Given the description of an element on the screen output the (x, y) to click on. 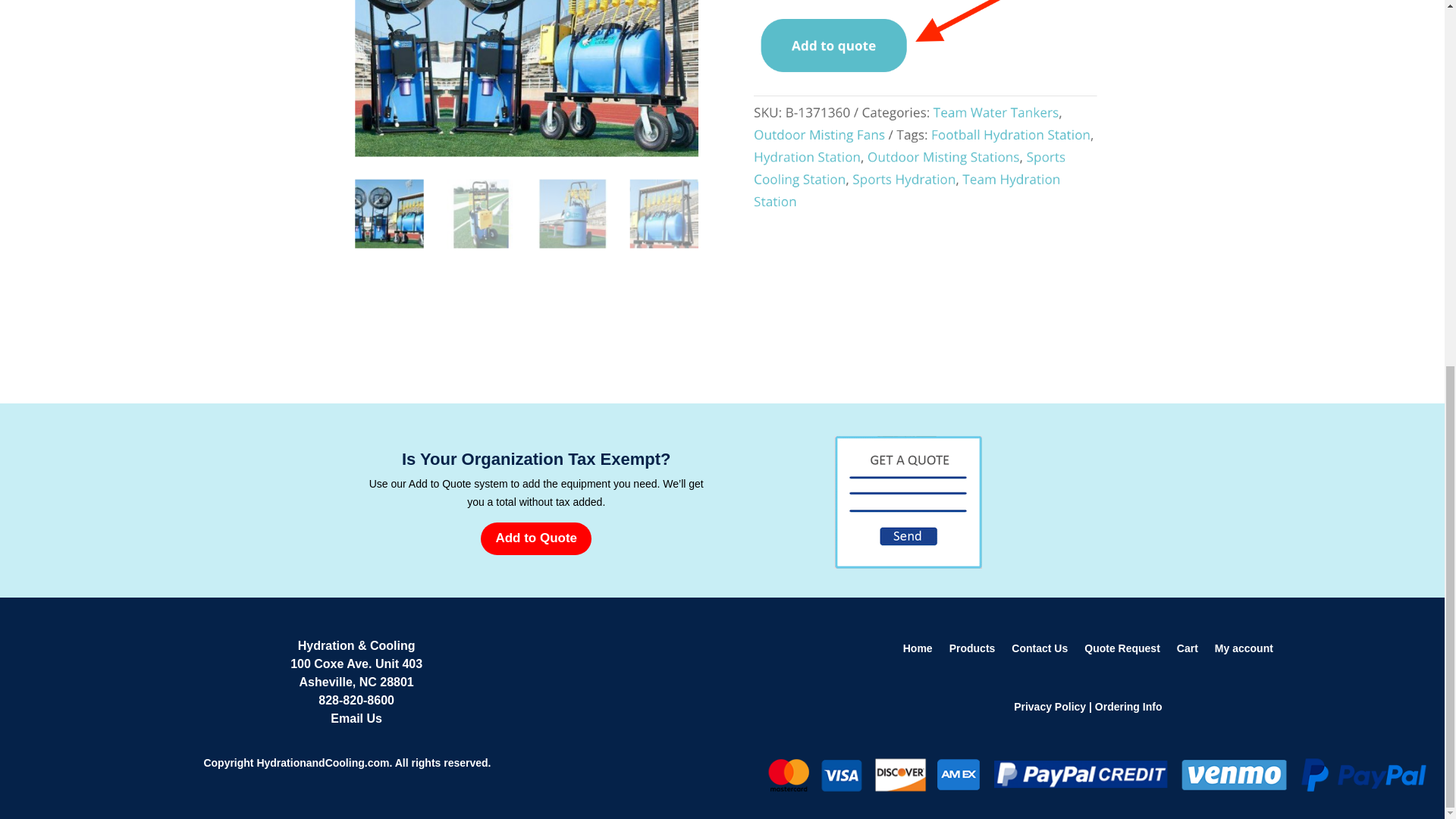
Add-to-Quote (907, 501)
payment-METHOD (1096, 773)
